Given the description of an element on the screen output the (x, y) to click on. 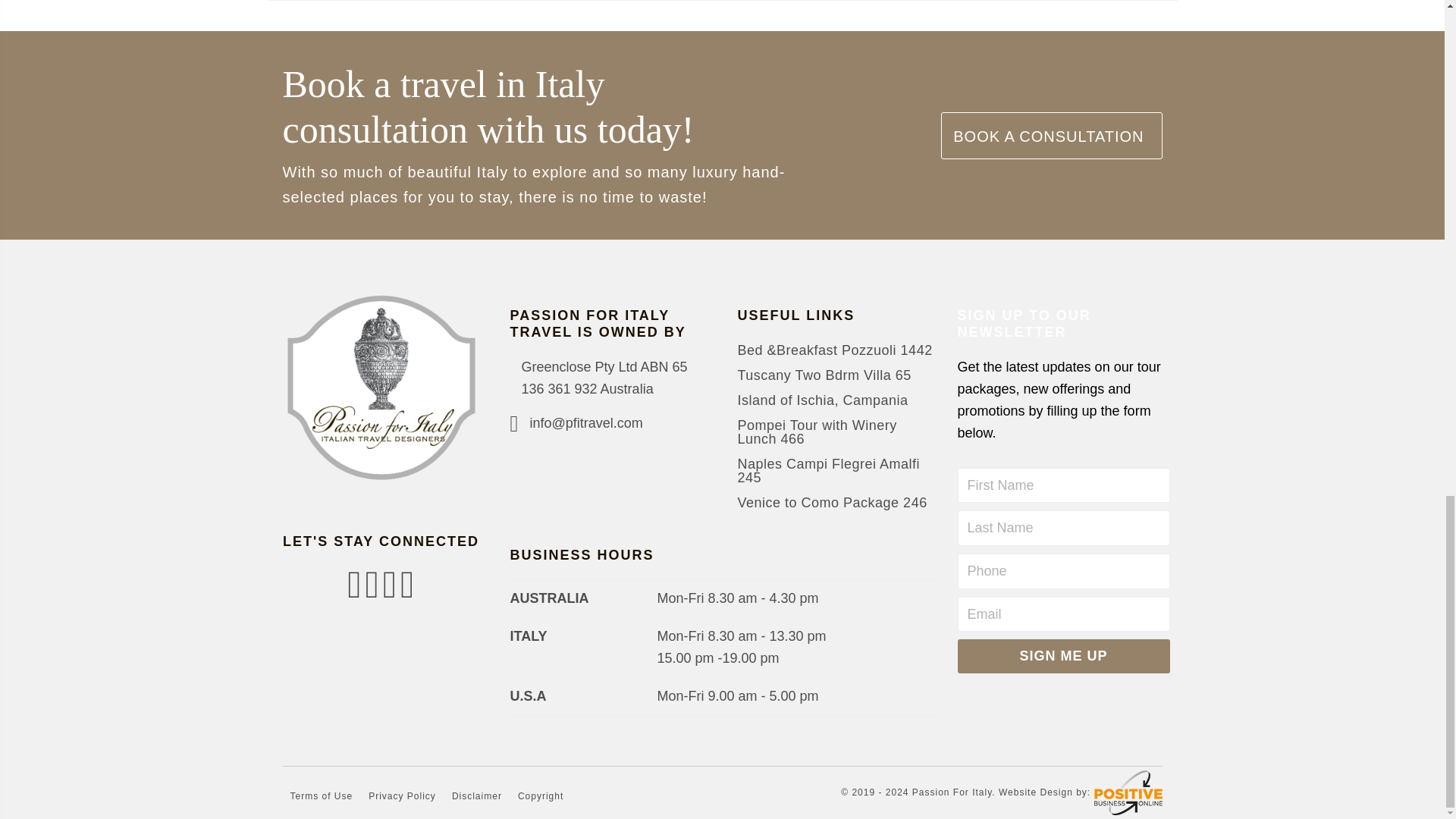
Sign me up (1062, 656)
Passion For Italy (1127, 792)
PFI-logo-white (381, 387)
